Given the description of an element on the screen output the (x, y) to click on. 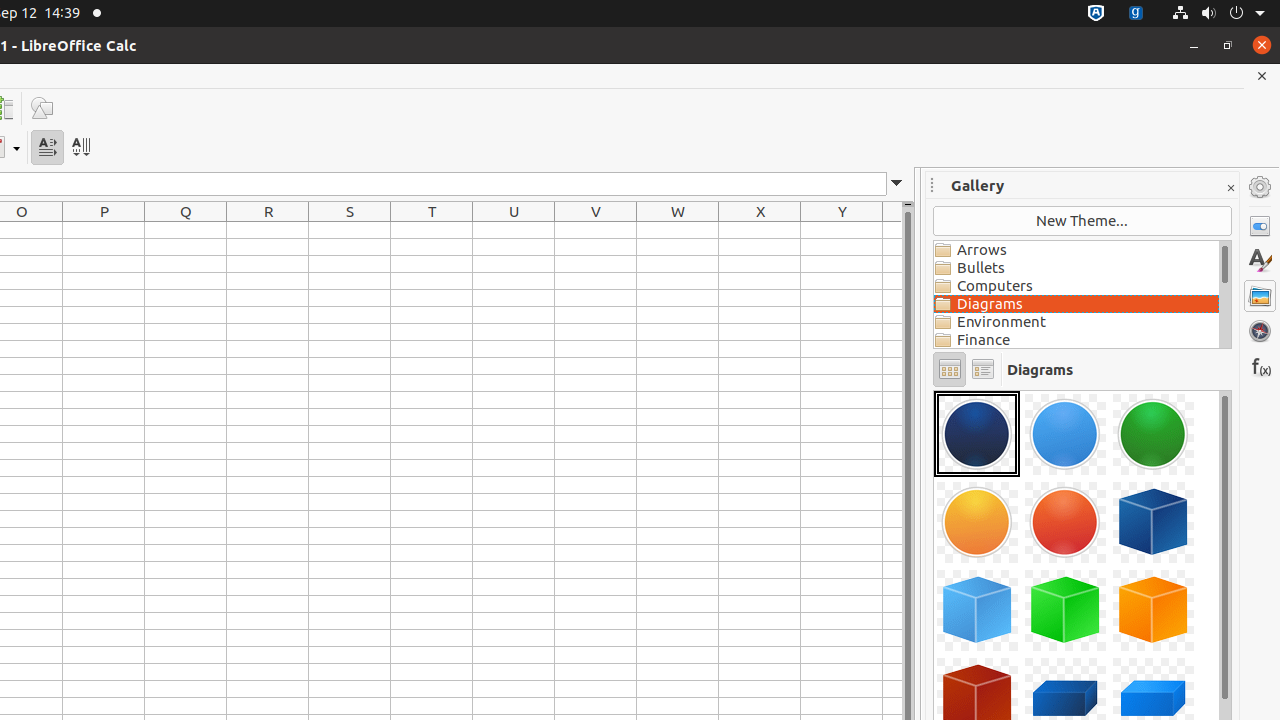
Gallery Element type: radio-button (1260, 296)
Component-Circle01-Transparent-DarkBlue Element type: list-item (977, 433)
Detailed View Element type: toggle-button (982, 369)
T1 Element type: table-cell (432, 230)
S1 Element type: table-cell (350, 230)
